Given the description of an element on the screen output the (x, y) to click on. 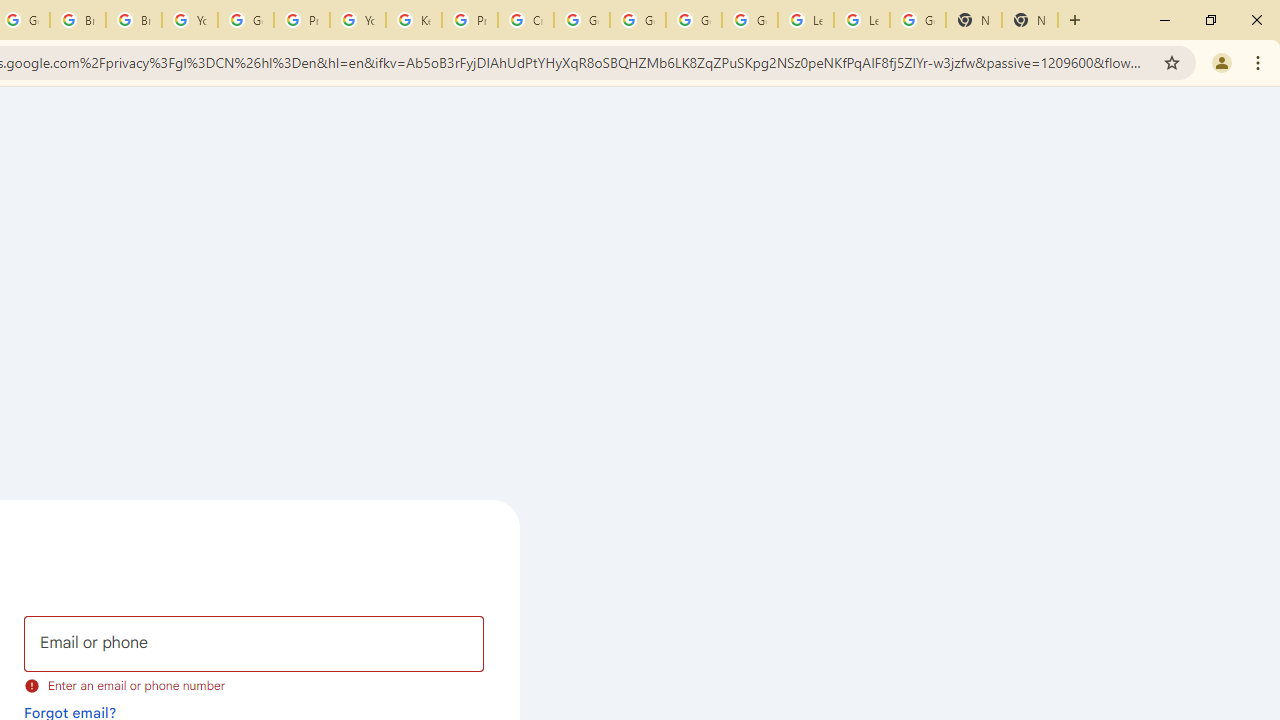
New Tab (1030, 20)
YouTube (358, 20)
Google Account Help (582, 20)
Google Account Help (637, 20)
Google Account Help (693, 20)
Email or phone (253, 643)
